Given the description of an element on the screen output the (x, y) to click on. 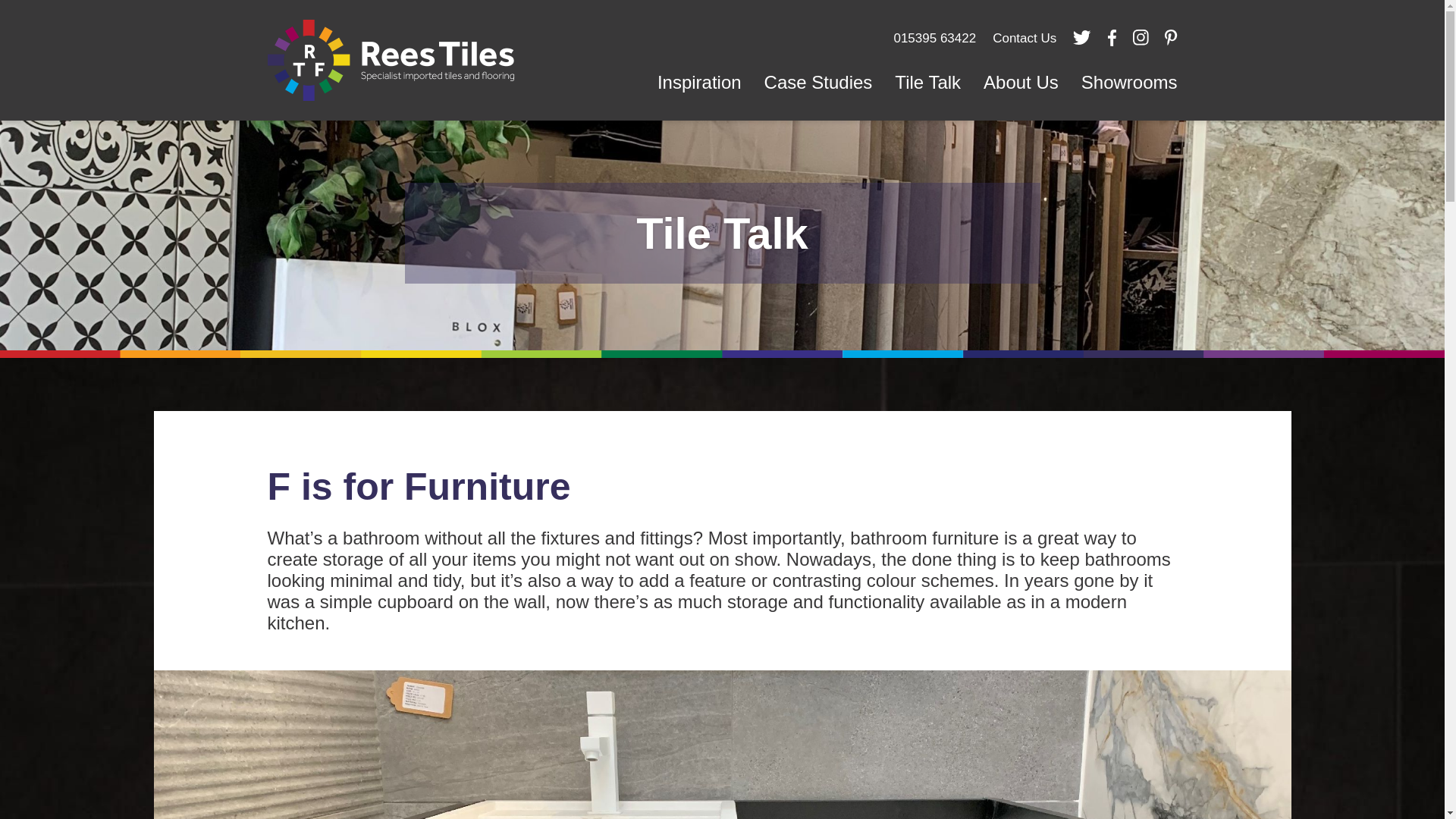
pinterest (1170, 37)
Showrooms (1129, 81)
Inspiration (699, 81)
facebook (1111, 37)
Case Studies (817, 81)
Tile Talk (927, 81)
About Us (1021, 81)
twitter (1081, 37)
Contact Us (1024, 38)
instagram (1140, 37)
015395 63422 (934, 38)
twitter (1081, 37)
instagram (1140, 37)
